Given the description of an element on the screen output the (x, y) to click on. 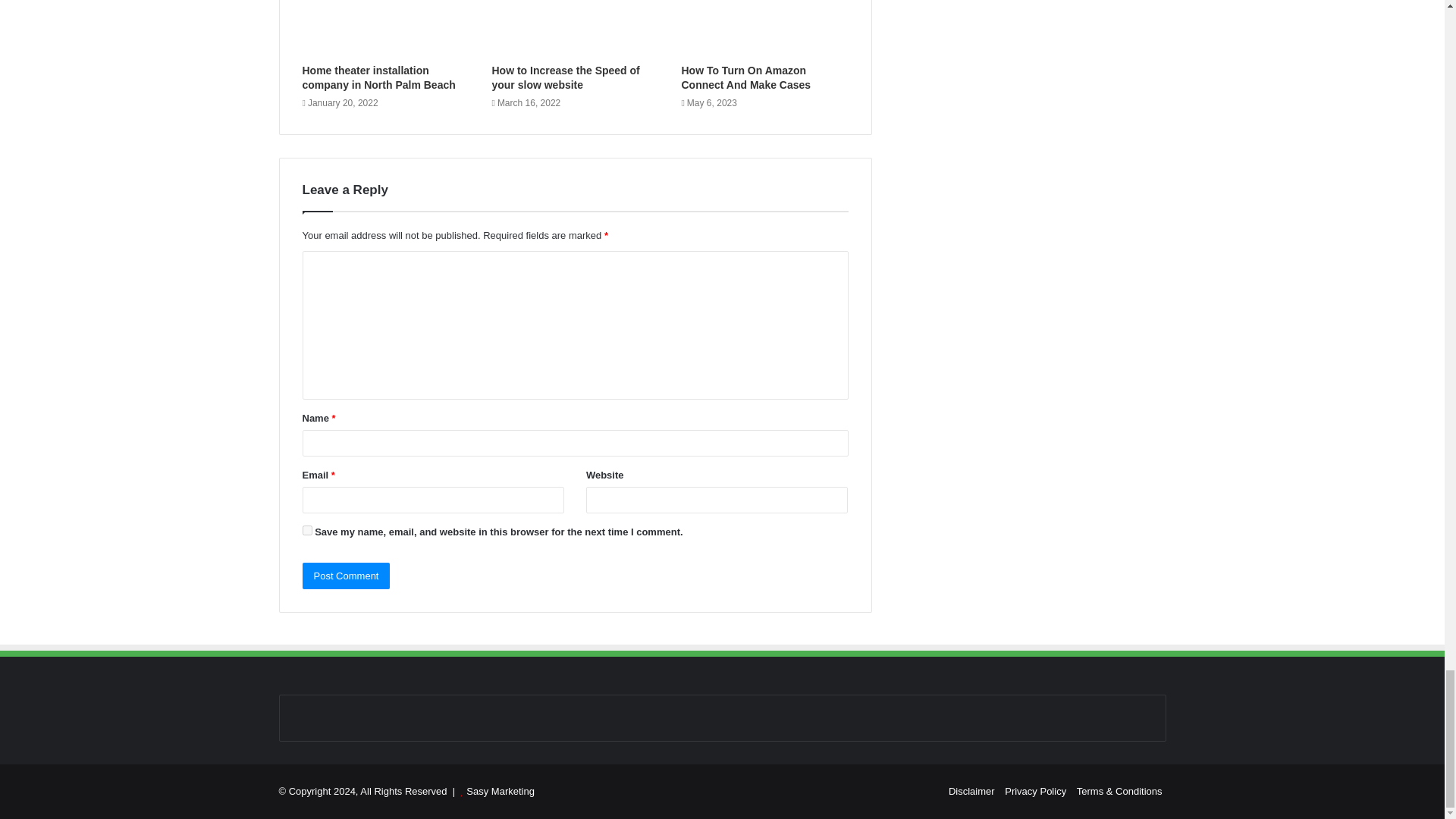
yes (306, 529)
Post Comment (345, 575)
